Given the description of an element on the screen output the (x, y) to click on. 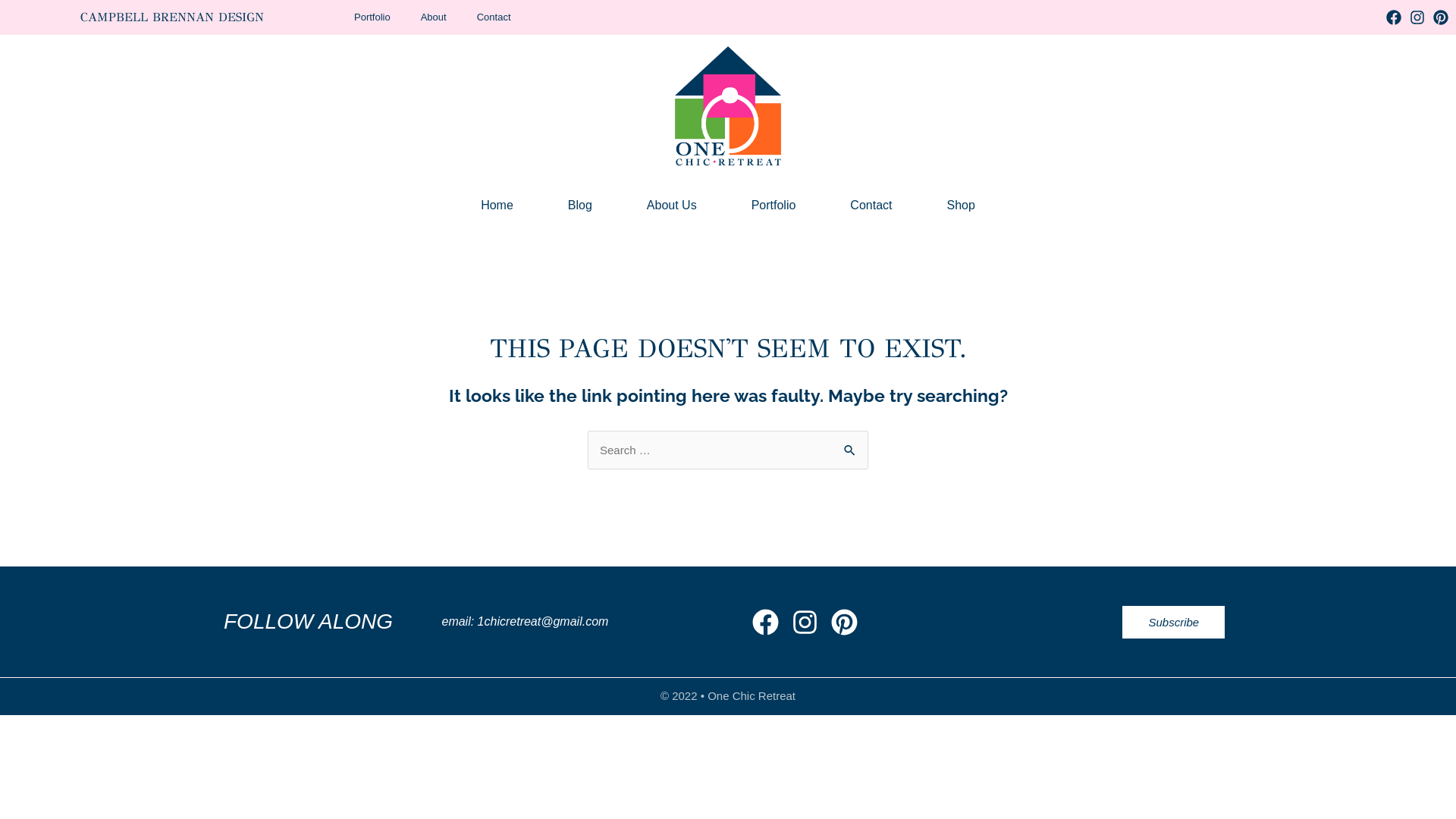
Instagram Element type: text (1416, 17)
Portfolio Element type: text (371, 17)
email: 1chicretreat@gmail.com Element type: text (524, 621)
Facebook Element type: text (1393, 17)
About Element type: text (433, 17)
Facebook Element type: text (765, 621)
CAMPBELL BRENNAN DESIGN Element type: text (171, 16)
Subscribe Element type: text (1173, 621)
Shop Element type: text (960, 205)
Pinterest Element type: text (843, 621)
Portfolio Element type: text (773, 205)
Instagram Element type: text (804, 621)
Contact Element type: text (493, 17)
Search Element type: text (851, 450)
Blog Element type: text (579, 205)
Pinterest Element type: text (1440, 17)
Contact Element type: text (870, 205)
Home Element type: text (496, 205)
About Us Element type: text (671, 205)
